Given the description of an element on the screen output the (x, y) to click on. 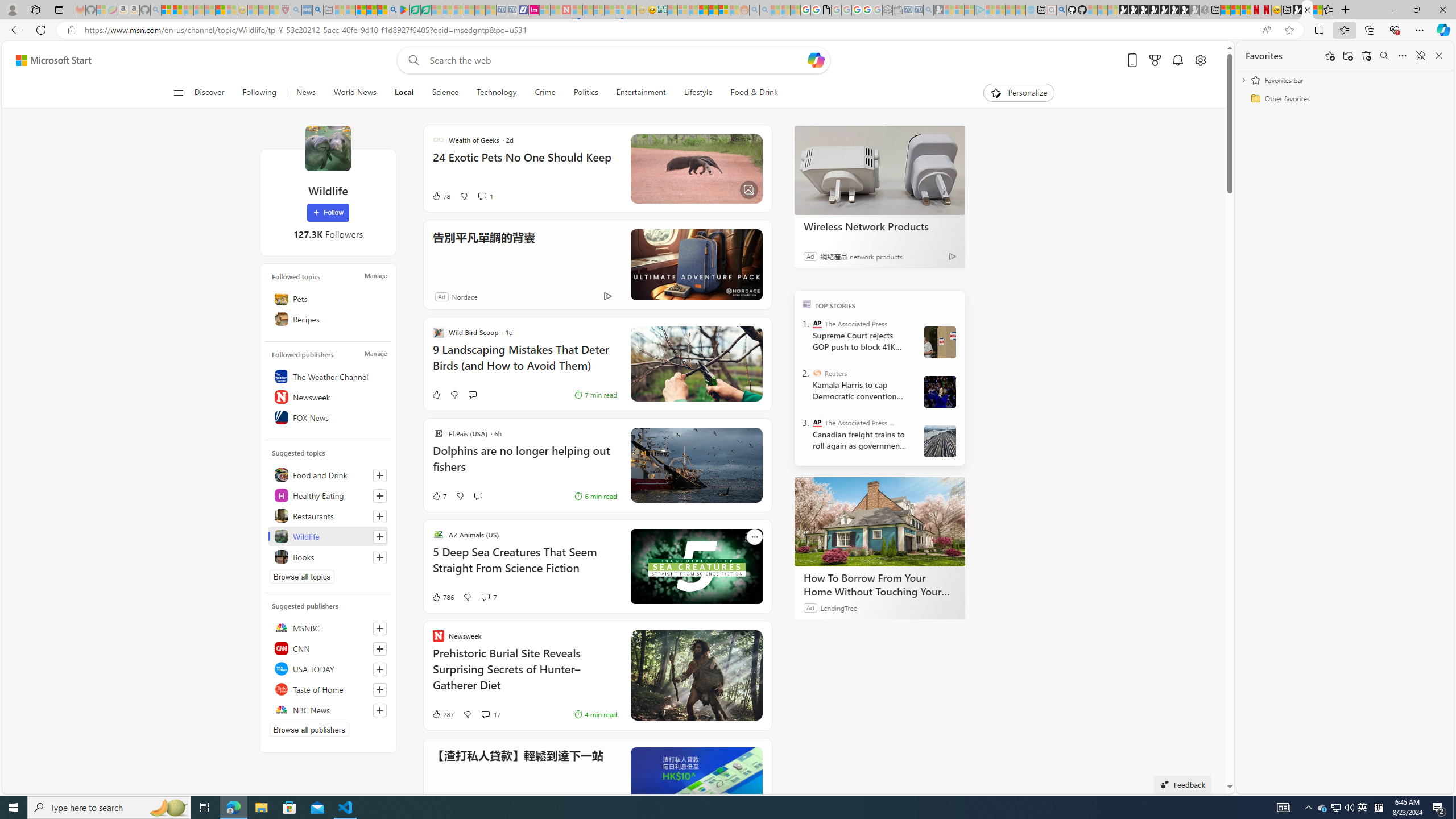
Kinda Frugal - MSN (713, 9)
USA TODAY (327, 668)
View comments 7 Comment (489, 597)
Dolphins are no longer helping out fishers (524, 464)
